Given the description of an element on the screen output the (x, y) to click on. 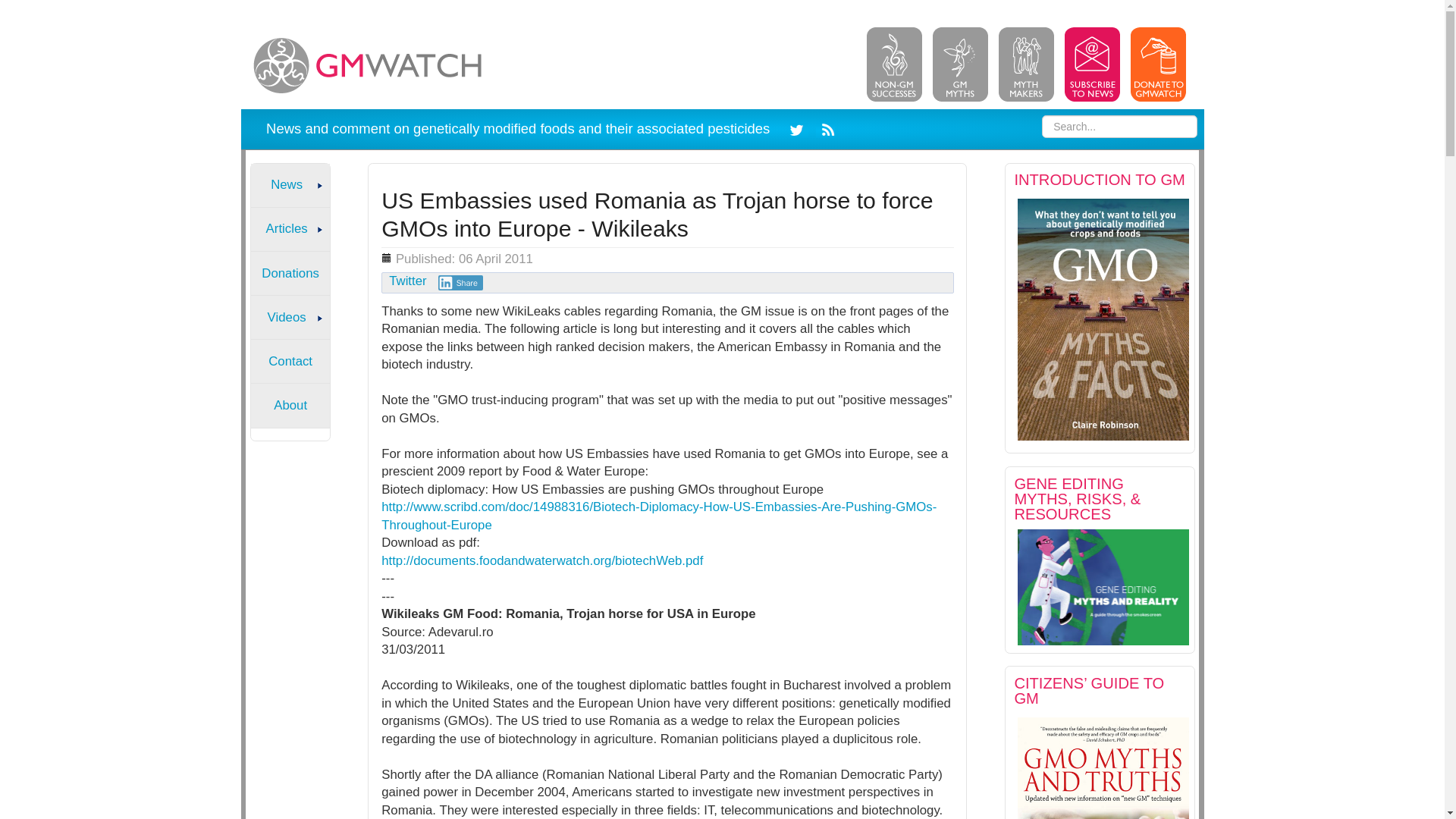
GMWatch RSS Feed (825, 128)
GMWatch Twitter (799, 128)
